Given the description of an element on the screen output the (x, y) to click on. 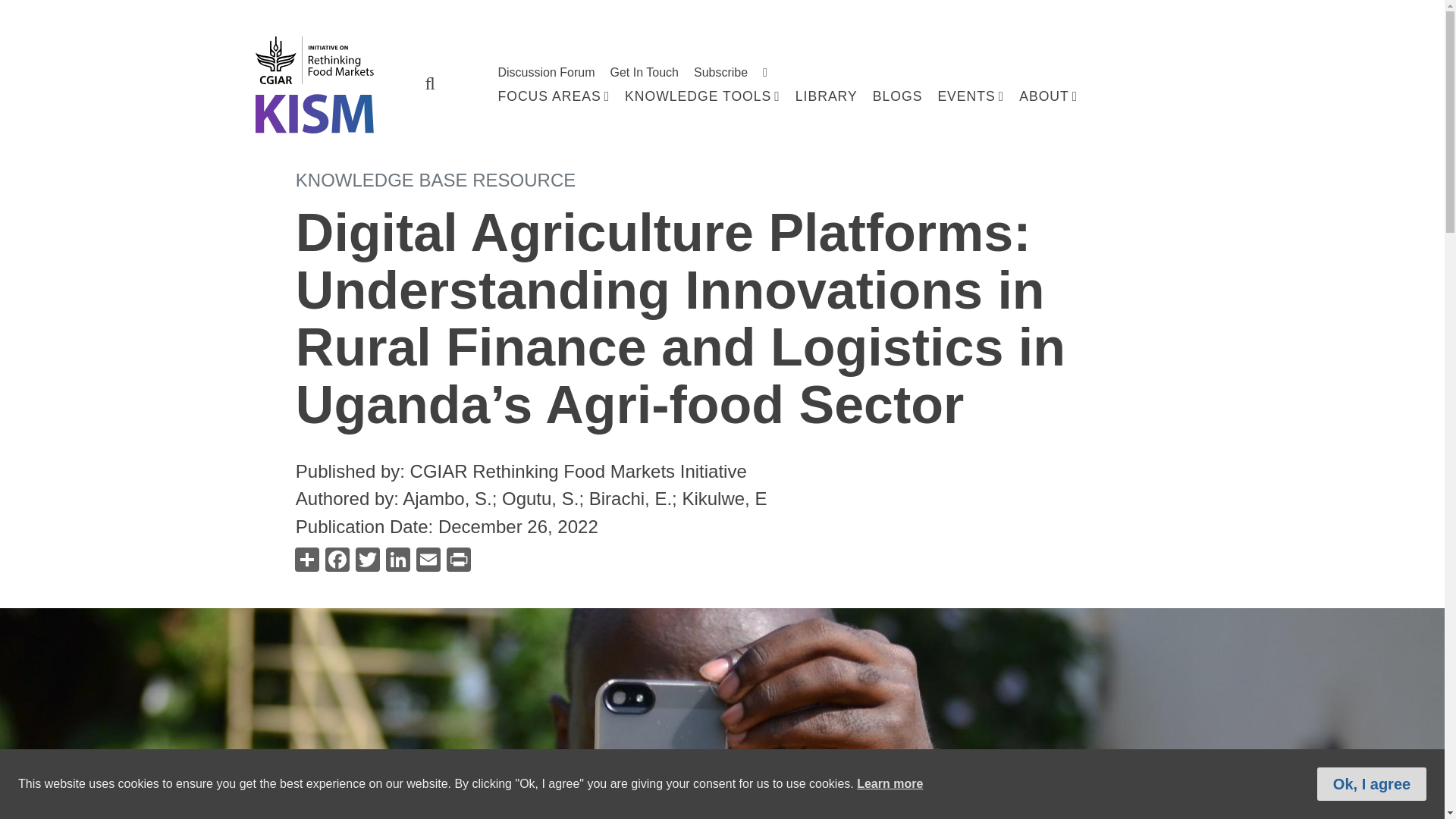
Food Security Portal (325, 83)
KNOWLEDGE TOOLS (702, 96)
Get In Touch (644, 72)
FOCUS AREAS (553, 96)
Discussion Forum (545, 72)
Subscribe (721, 72)
